Given the description of an element on the screen output the (x, y) to click on. 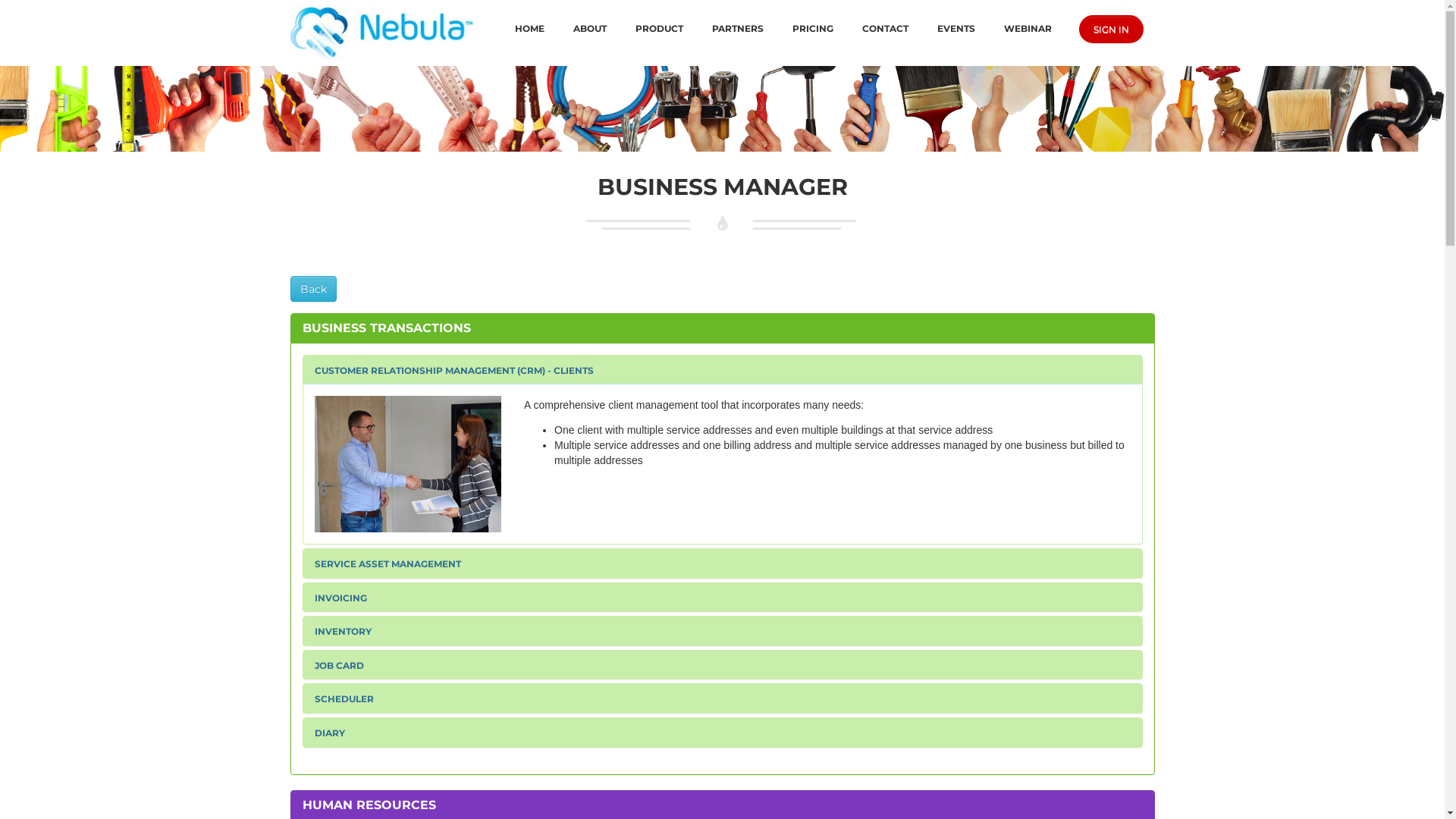
HOME Element type: text (529, 28)
INVENTORY Element type: text (341, 631)
ABOUT Element type: text (589, 28)
Back Element type: text (312, 288)
DIARY Element type: text (328, 732)
CONTACT Element type: text (885, 28)
SCHEDULER Element type: text (343, 698)
CUSTOMER RELATIONSHIP MANAGEMENT (CRM) - CLIENTS Element type: text (453, 370)
PARTNERS Element type: text (737, 28)
JOB CARD Element type: text (338, 665)
EVENTS Element type: text (956, 28)
WEBINAR Element type: text (1027, 28)
SERVICE ASSET MANAGEMENT Element type: text (386, 563)
INVOICING Element type: text (339, 597)
PRODUCT Element type: text (659, 28)
SIGN IN Element type: text (1110, 28)
PRICING Element type: text (812, 28)
